Given the description of an element on the screen output the (x, y) to click on. 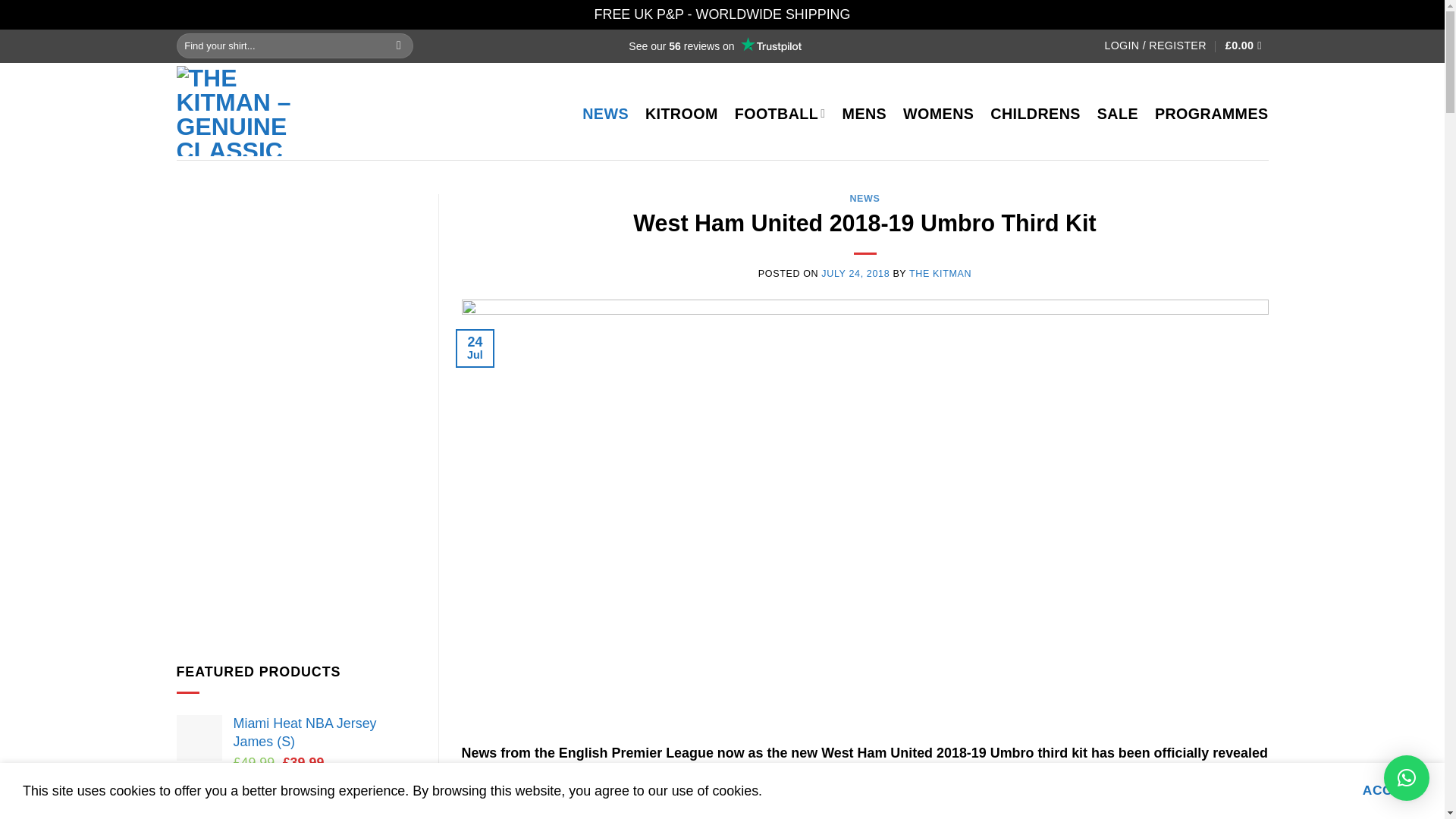
Basket (1246, 45)
Search (399, 45)
Advertisement (295, 538)
Customer reviews powered by Trustpilot (714, 45)
FOOTBALL (780, 113)
